Given the description of an element on the screen output the (x, y) to click on. 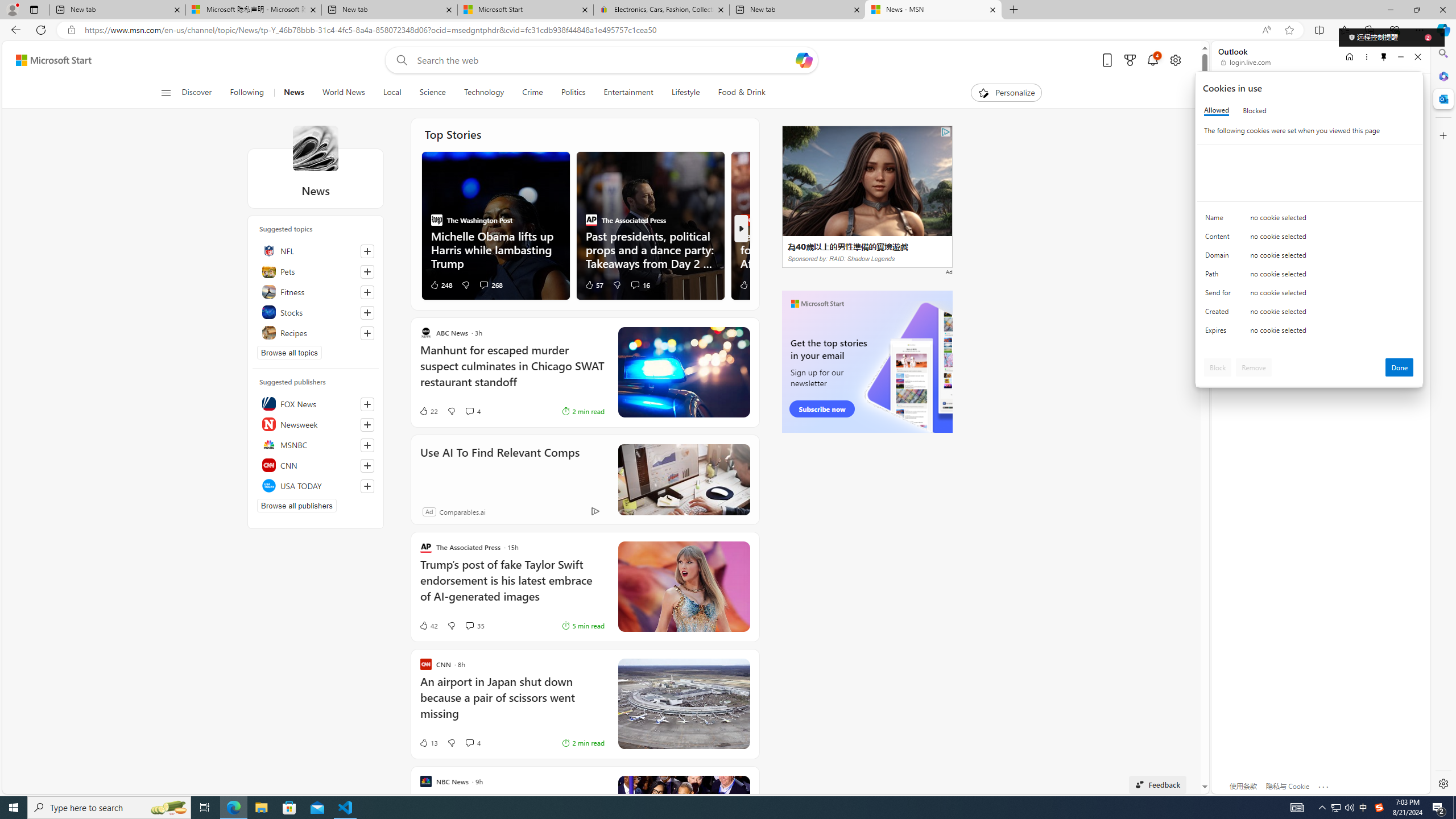
FOX News (315, 403)
Class: c0153 c0157 c0154 (1309, 220)
Personalize (1006, 92)
Pets (315, 270)
An aerial shot of New Chitose Airport in Hokkaido, Japan. (683, 703)
Politics (572, 92)
Use AI To Find Relevant Comps (499, 467)
Crime (532, 92)
Browse all topics (289, 352)
Police lights on a street at night. (683, 371)
